Given the description of an element on the screen output the (x, y) to click on. 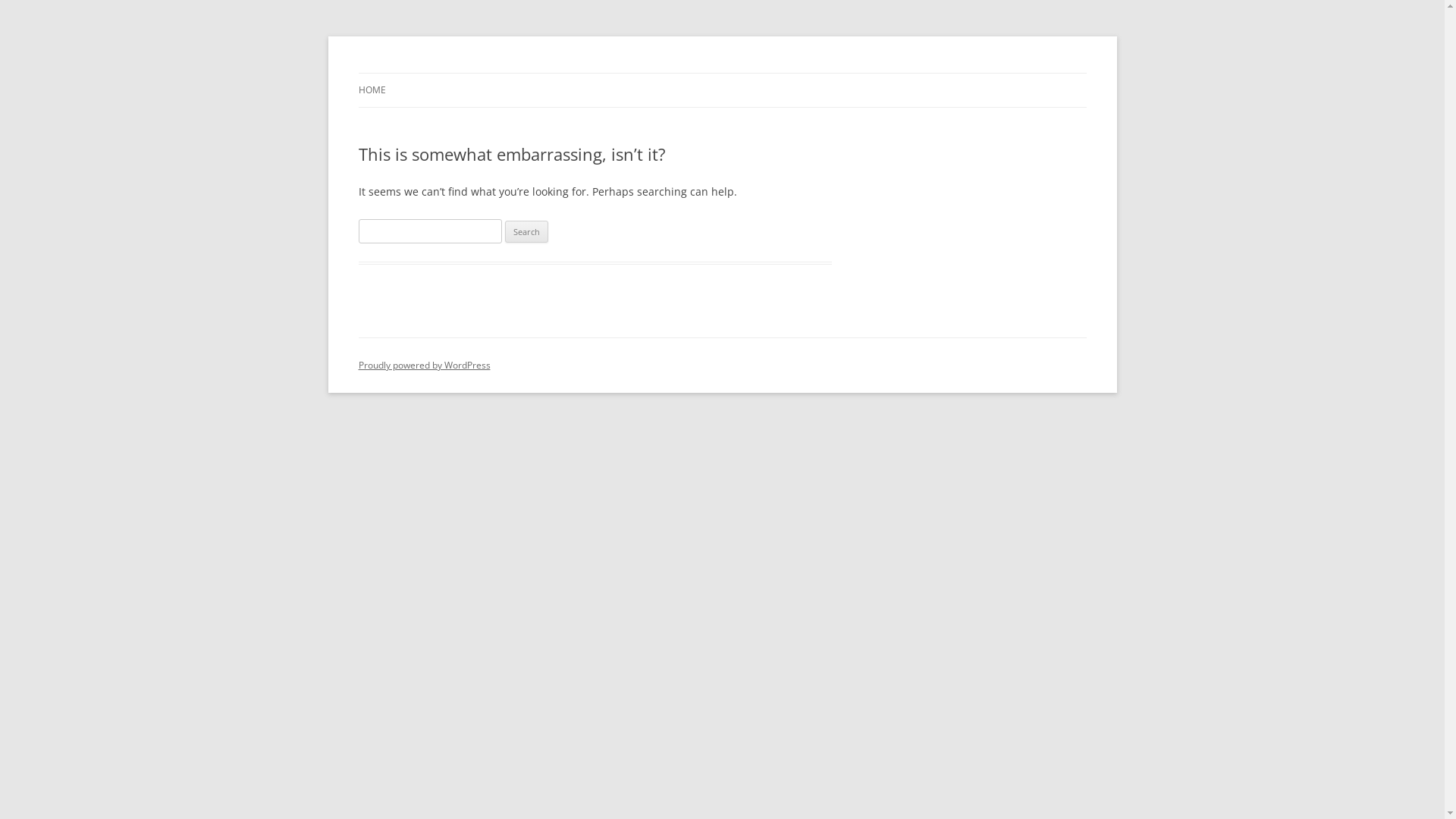
Varicella Vaccine Schedule Element type: text (486, 72)
Search Element type: text (526, 231)
Proudly powered by WordPress Element type: text (423, 364)
Skip to content Element type: text (721, 72)
HOME Element type: text (371, 89)
